Given the description of an element on the screen output the (x, y) to click on. 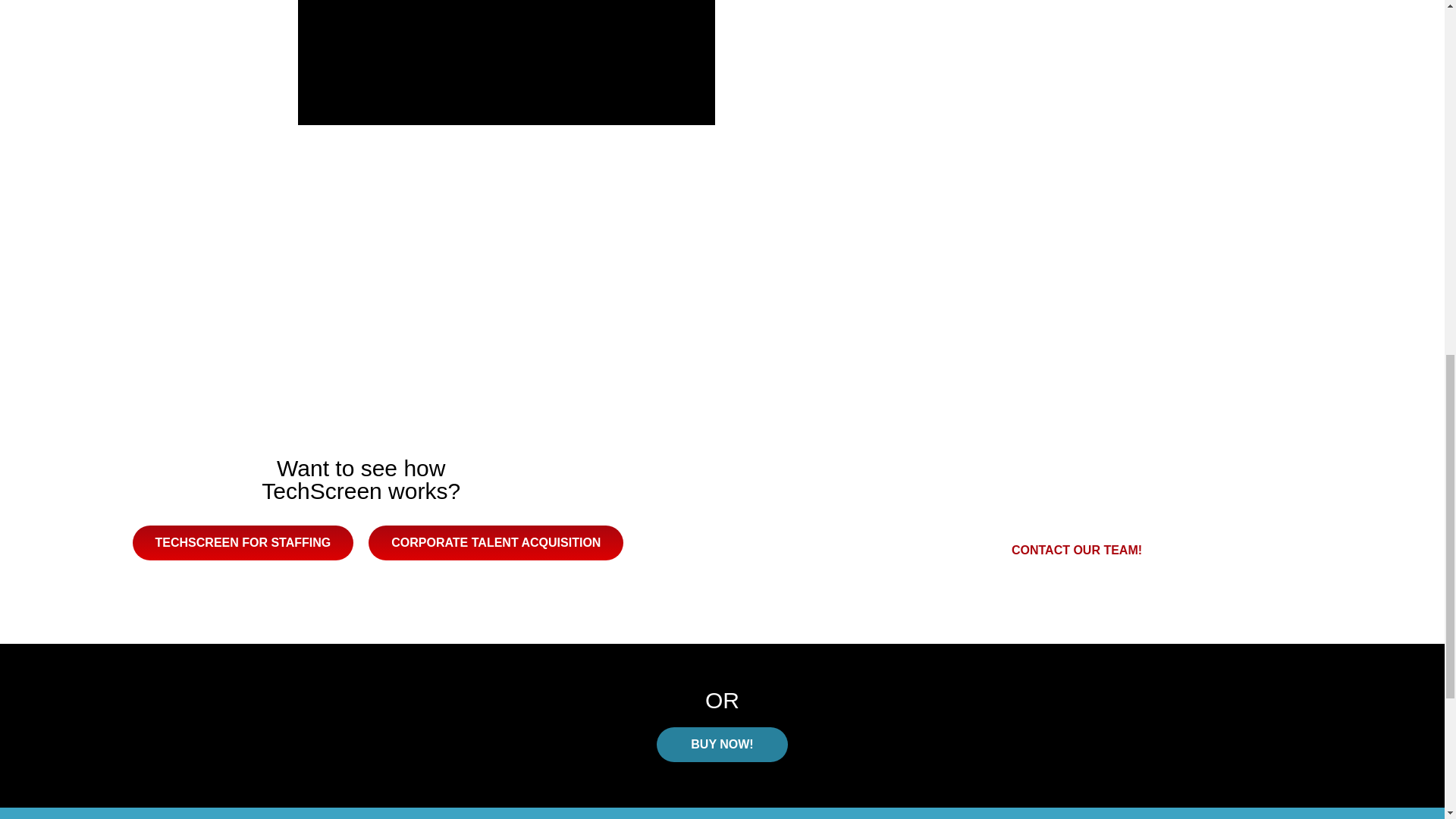
BUY NOW! (721, 744)
CORPORATE TALENT ACQUISITION (495, 542)
CONTACT OUR TEAM! (1076, 550)
TECHSCREEN FOR STAFFING (242, 542)
vimeo Video Player (505, 62)
